Given the description of an element on the screen output the (x, y) to click on. 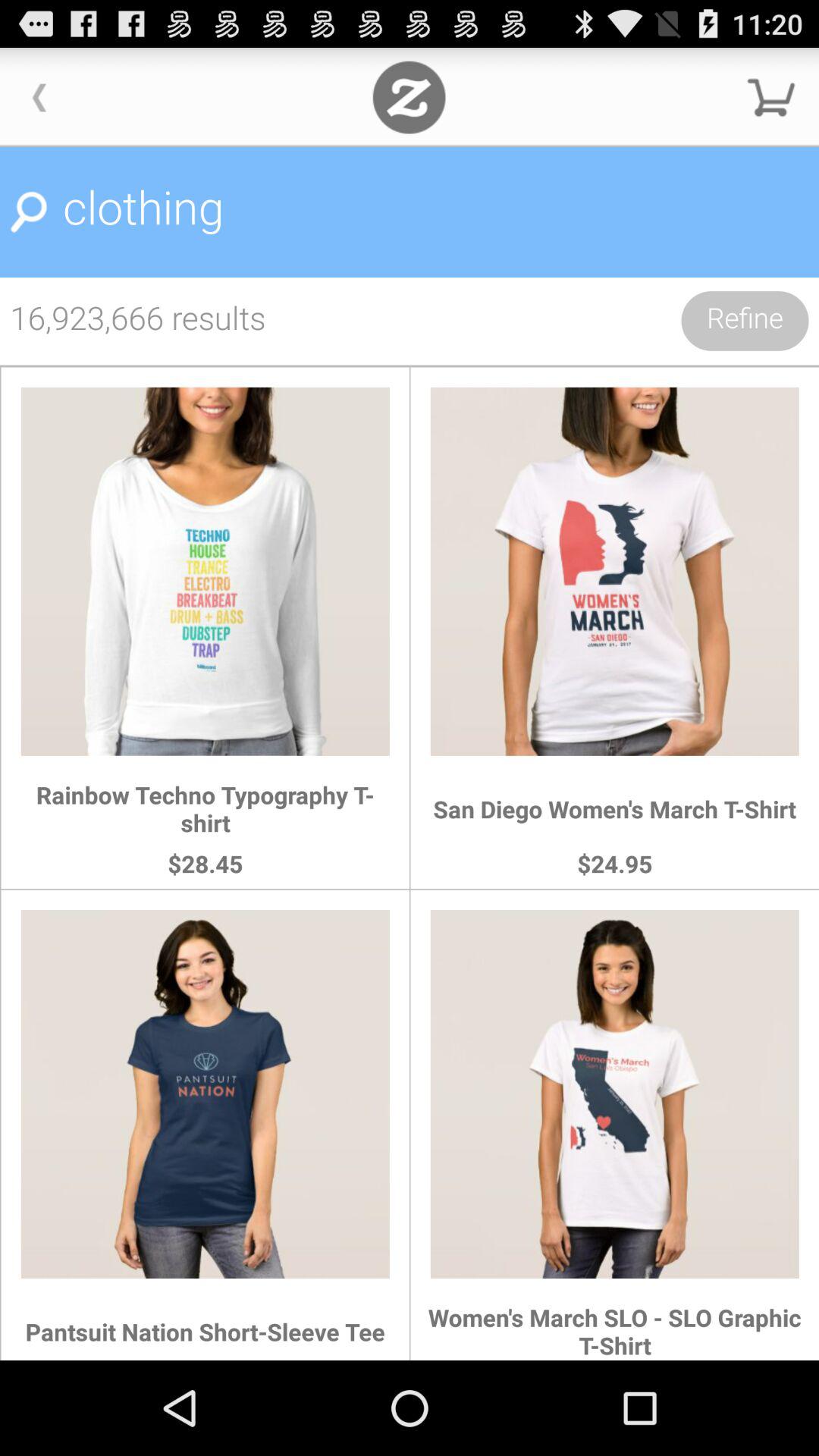
jump until the refine icon (744, 320)
